Given the description of an element on the screen output the (x, y) to click on. 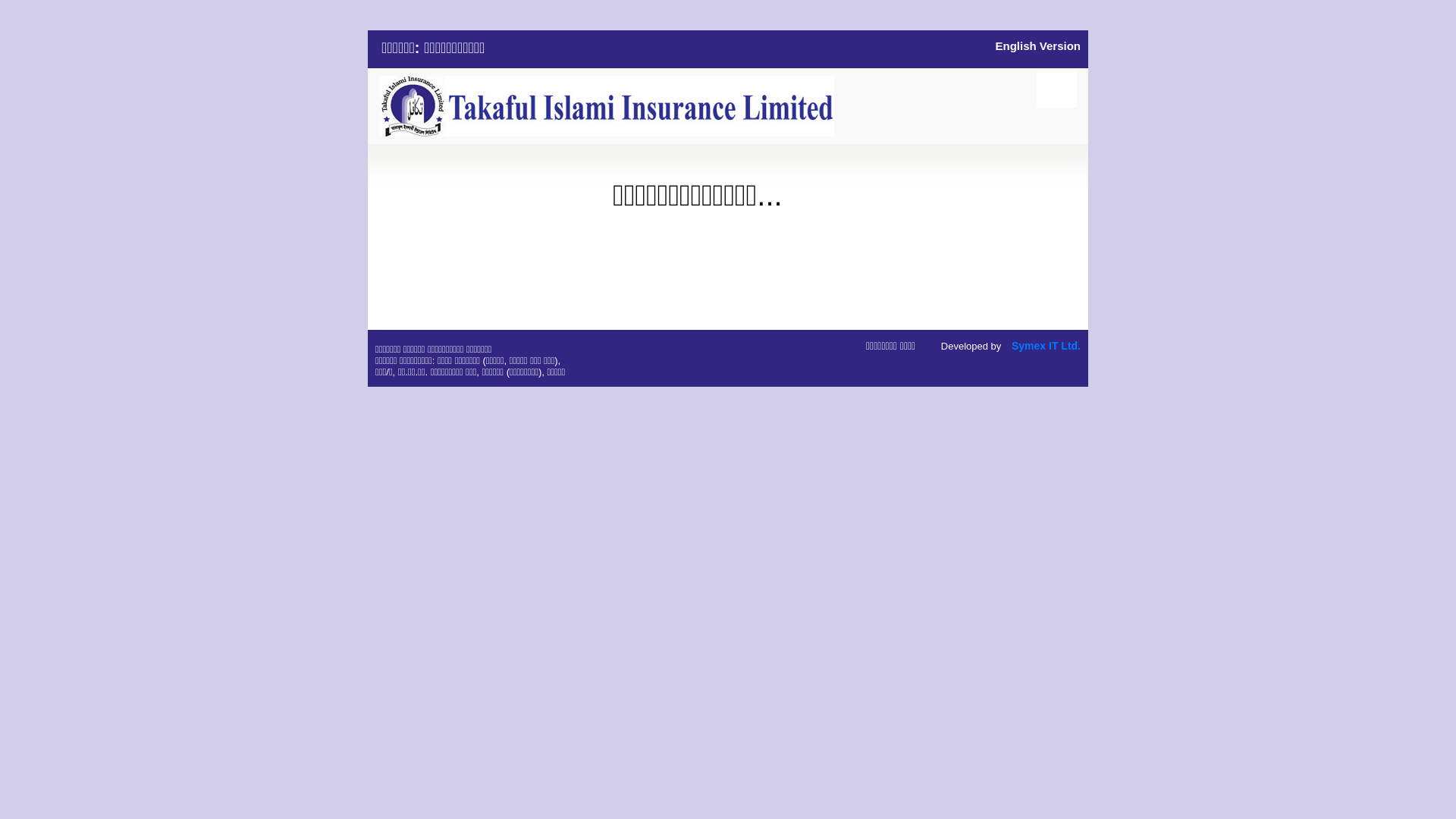
English Version Element type: text (1037, 45)
Symex IT Ltd. Element type: text (1046, 345)
